Given the description of an element on the screen output the (x, y) to click on. 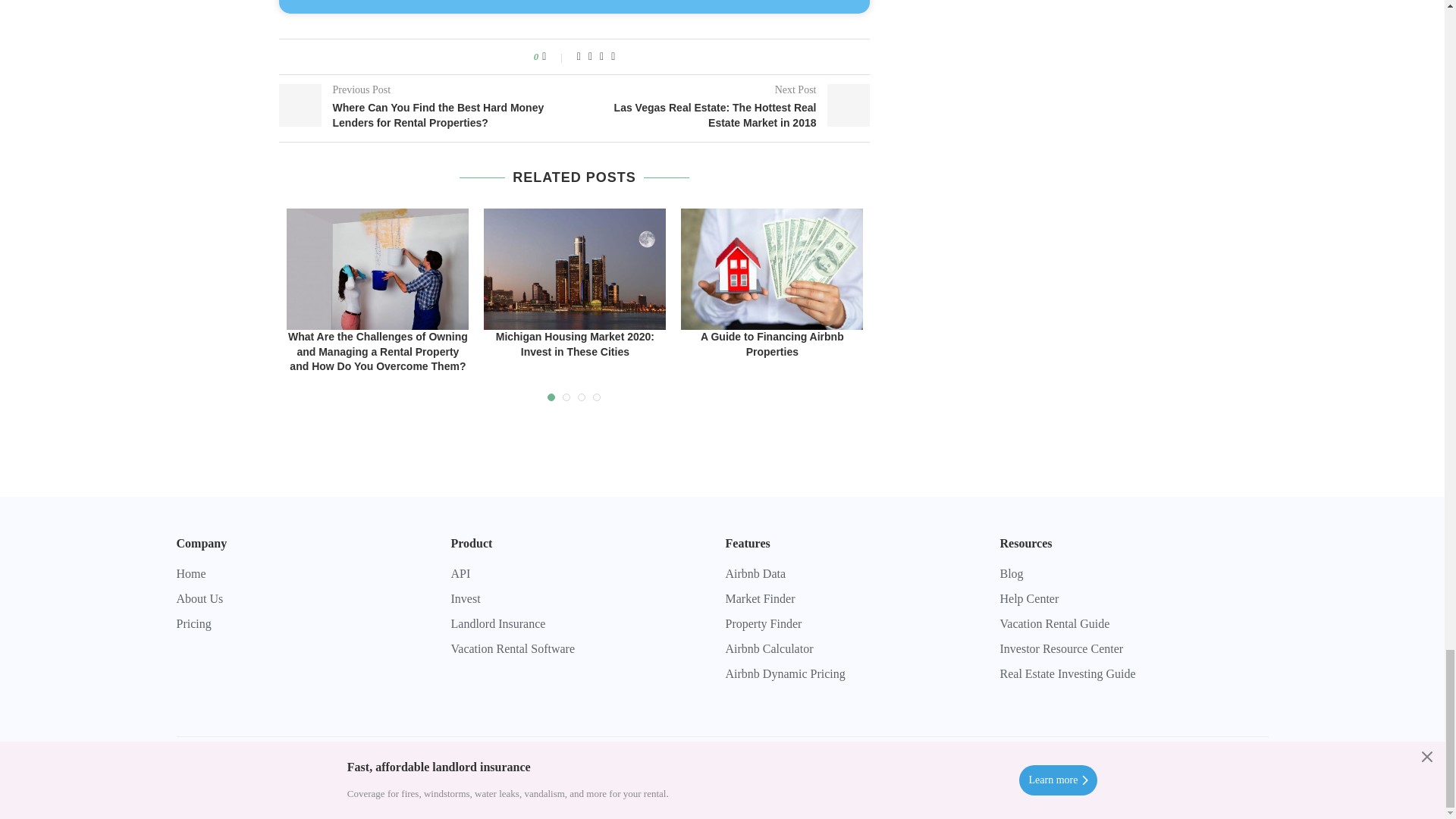
A Guide to Financing Airbnb Properties (772, 269)
Michigan Housing Market 2020: Invest in These Cities (574, 269)
Like (553, 56)
